Given the description of an element on the screen output the (x, y) to click on. 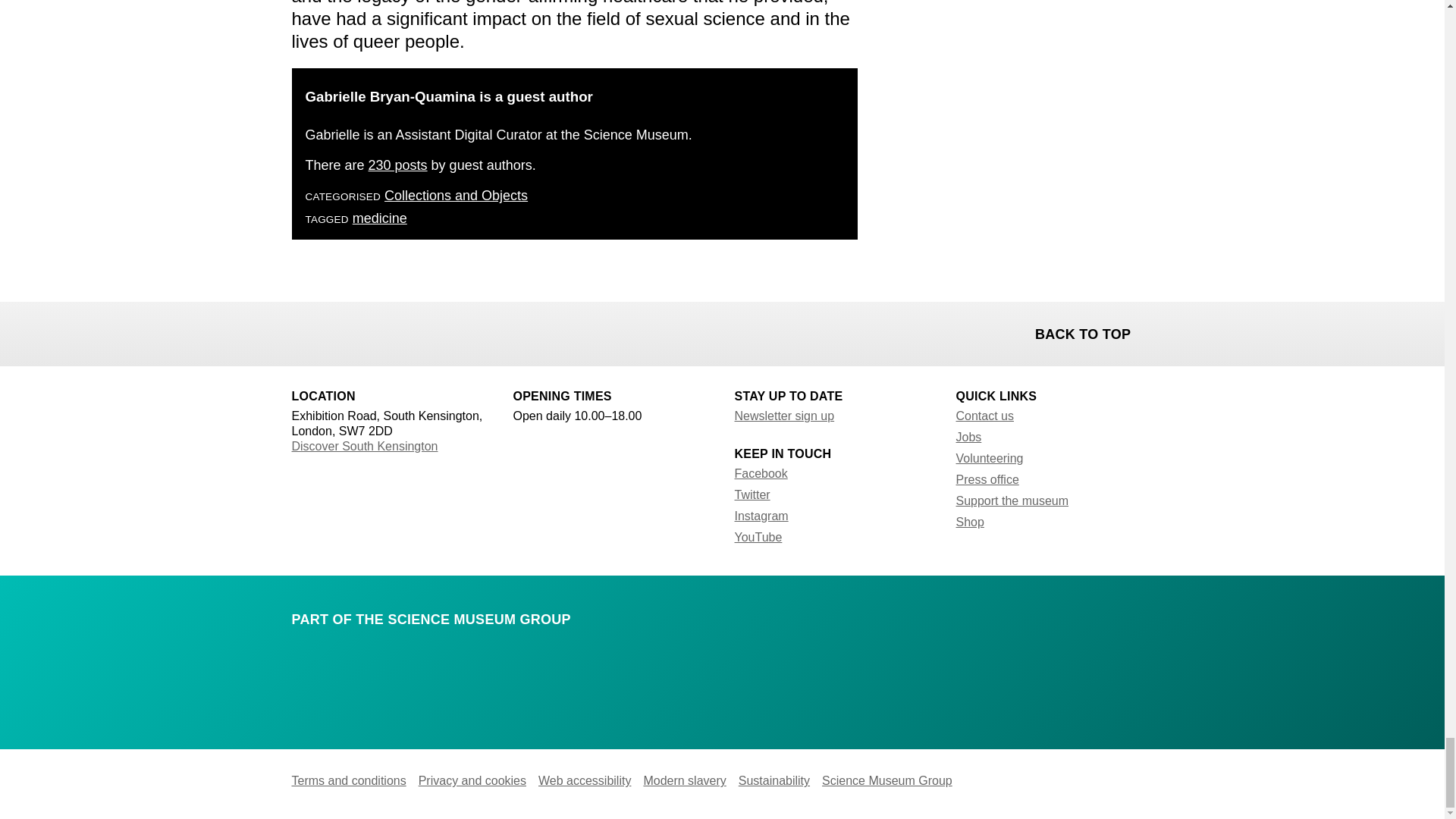
Share by email (384, 331)
Share on facebook (304, 331)
medicine (379, 218)
Collections and Objects (455, 195)
230 posts (398, 165)
Tweet this (344, 331)
